Given the description of an element on the screen output the (x, y) to click on. 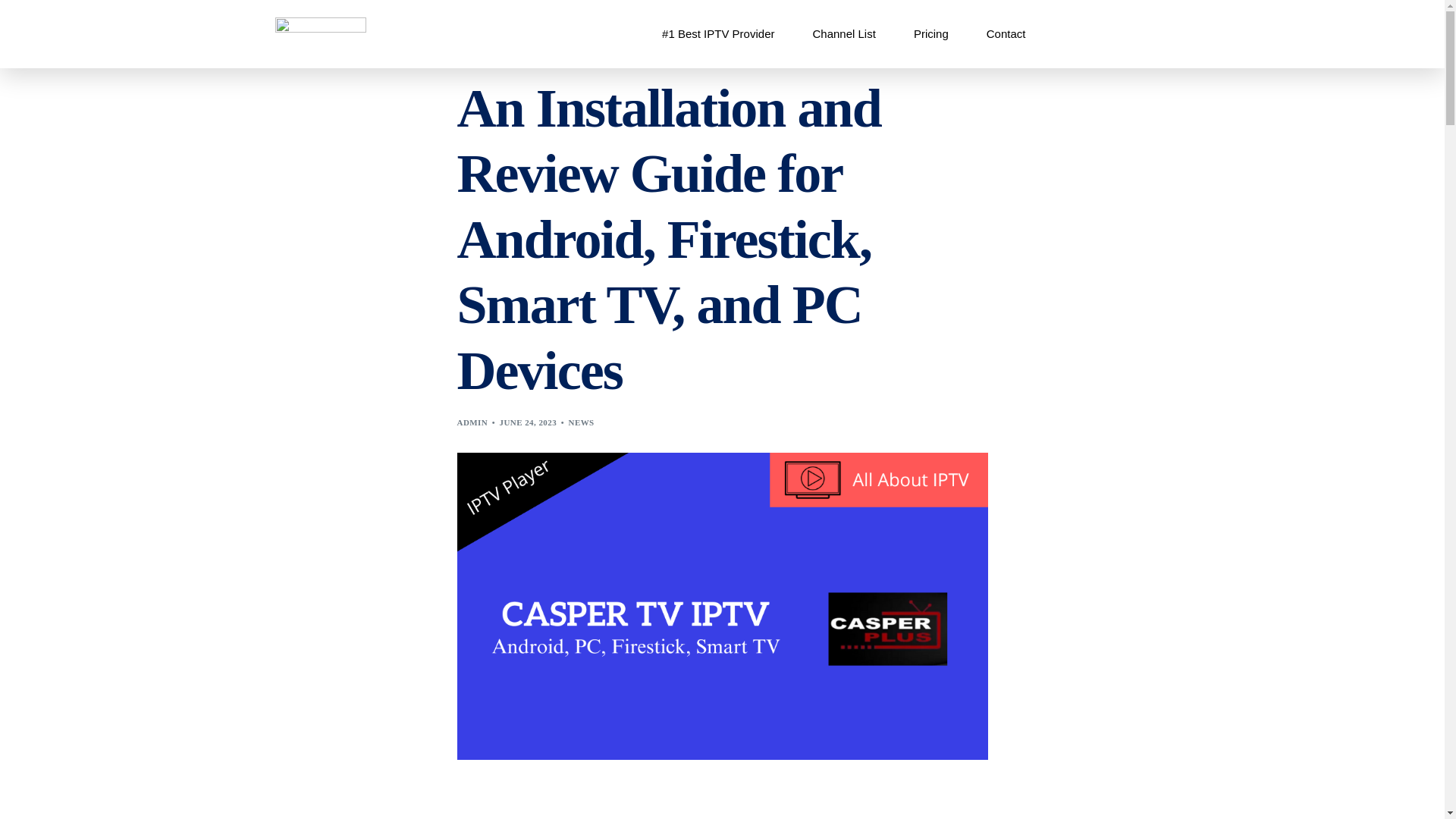
NEWS (581, 421)
Posts by admin (472, 421)
ADMIN (472, 421)
Channel List (843, 33)
